Given the description of an element on the screen output the (x, y) to click on. 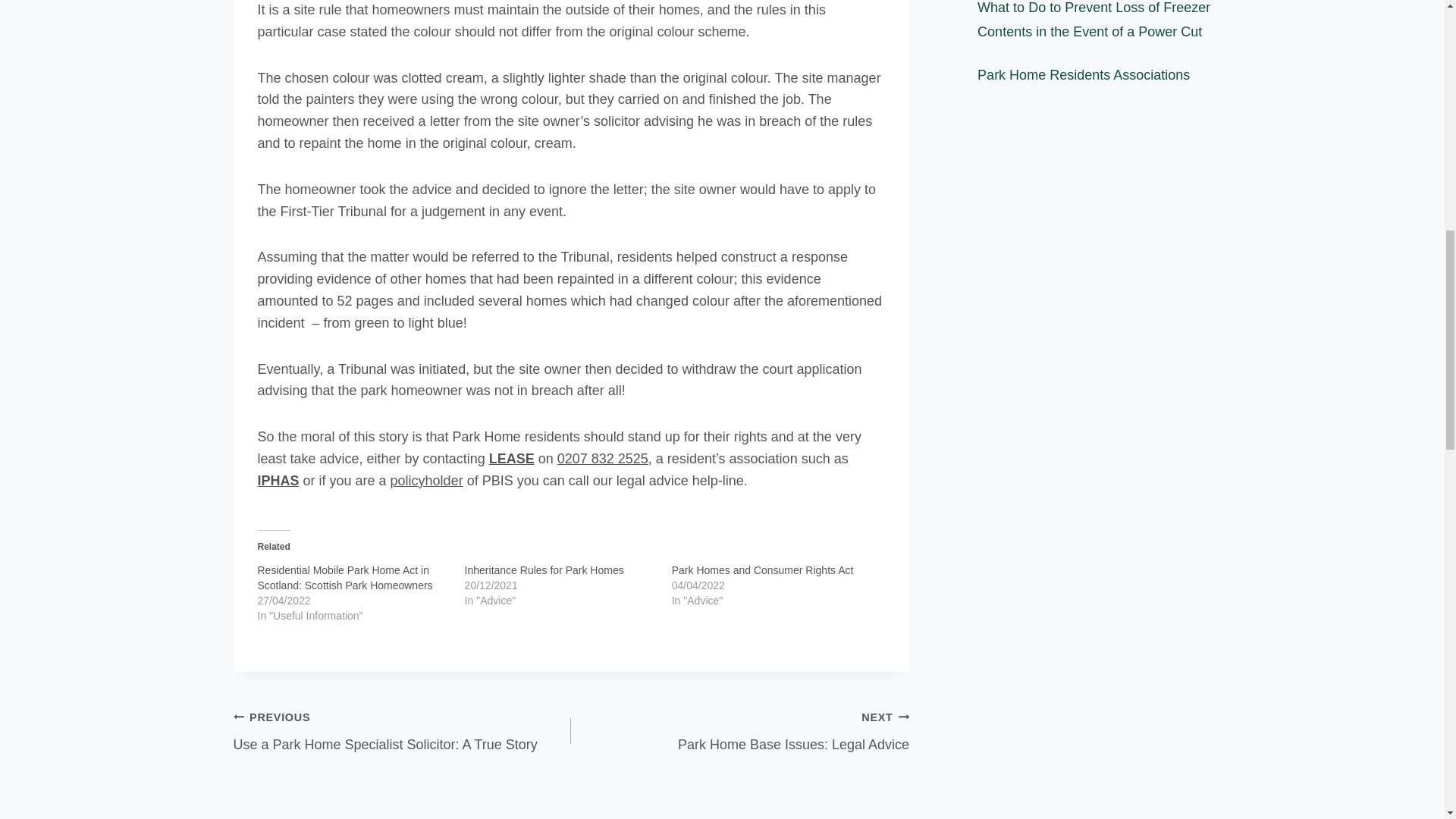
Park Homes and Consumer Rights Act (762, 570)
Inheritance Rules for Park Homes (544, 570)
Inheritance Rules for Park Homes (402, 730)
LEASE (544, 570)
0207 832 2525 (511, 458)
Park Homes and Consumer Rights Act (602, 458)
IPHAS (762, 570)
